Given the description of an element on the screen output the (x, y) to click on. 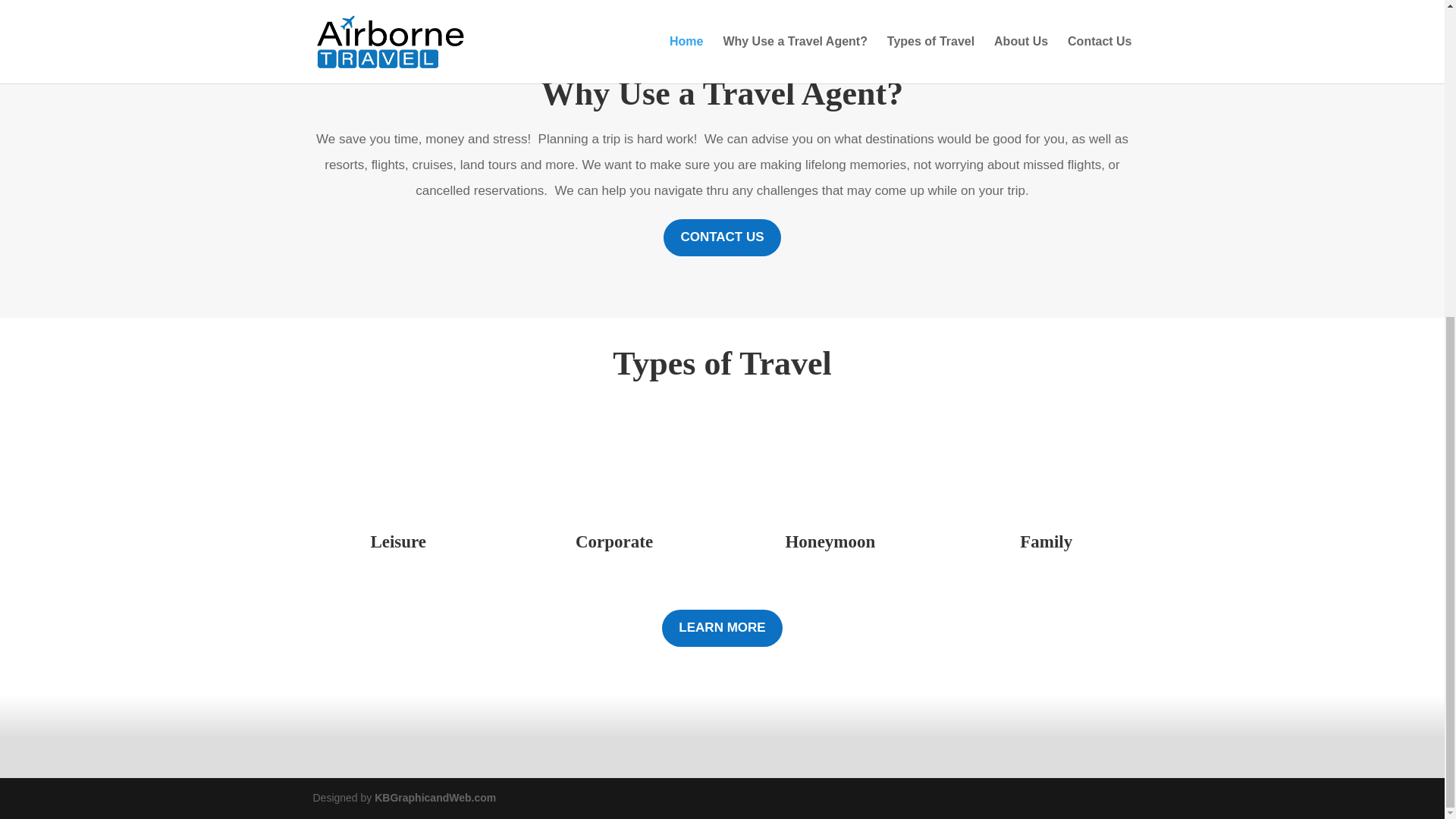
KBGraphicandWeb.com (435, 797)
LEARN MORE (721, 628)
CONTACT US (721, 237)
